Given the description of an element on the screen output the (x, y) to click on. 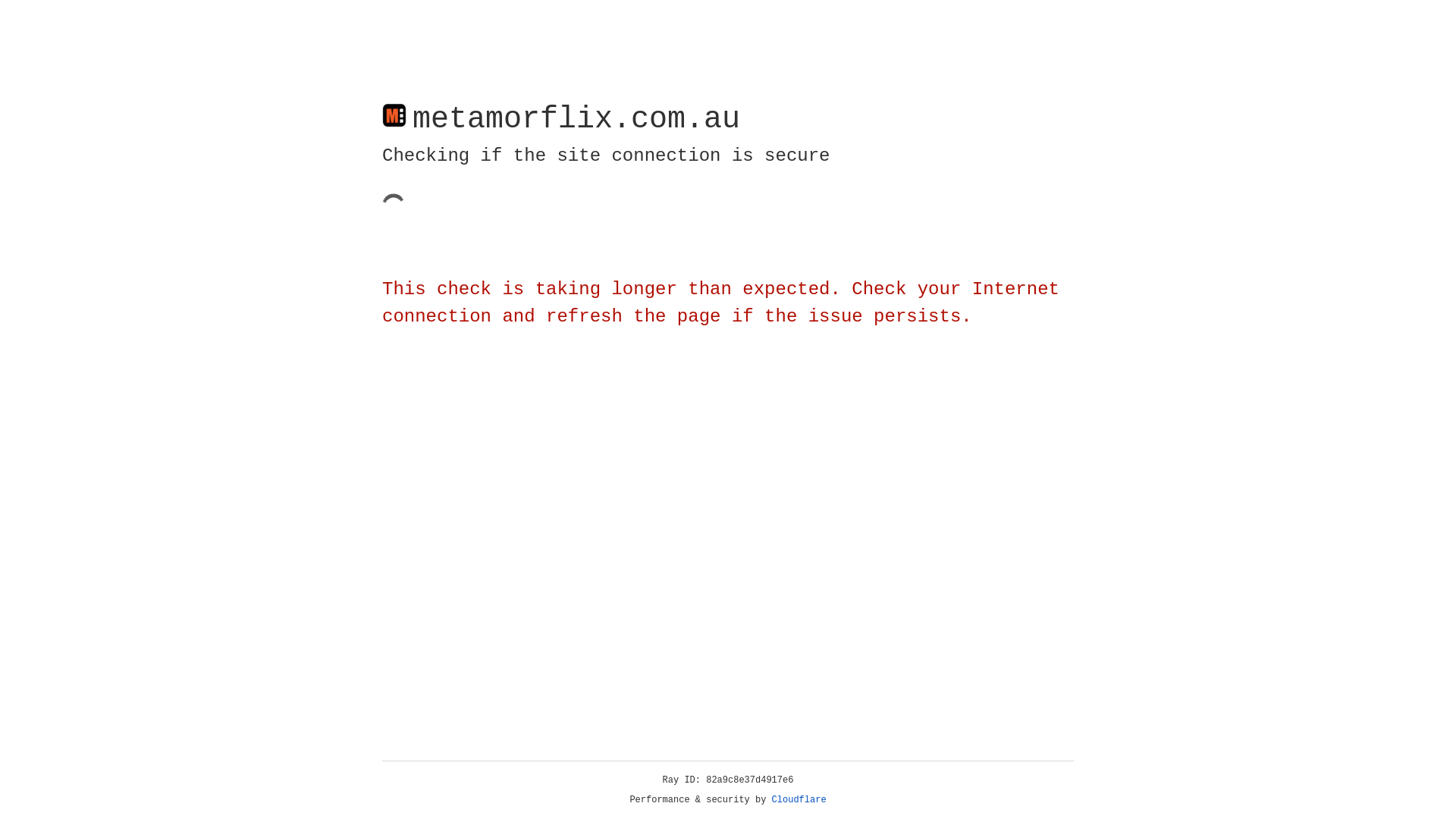
Cloudflare Element type: text (798, 799)
